Given the description of an element on the screen output the (x, y) to click on. 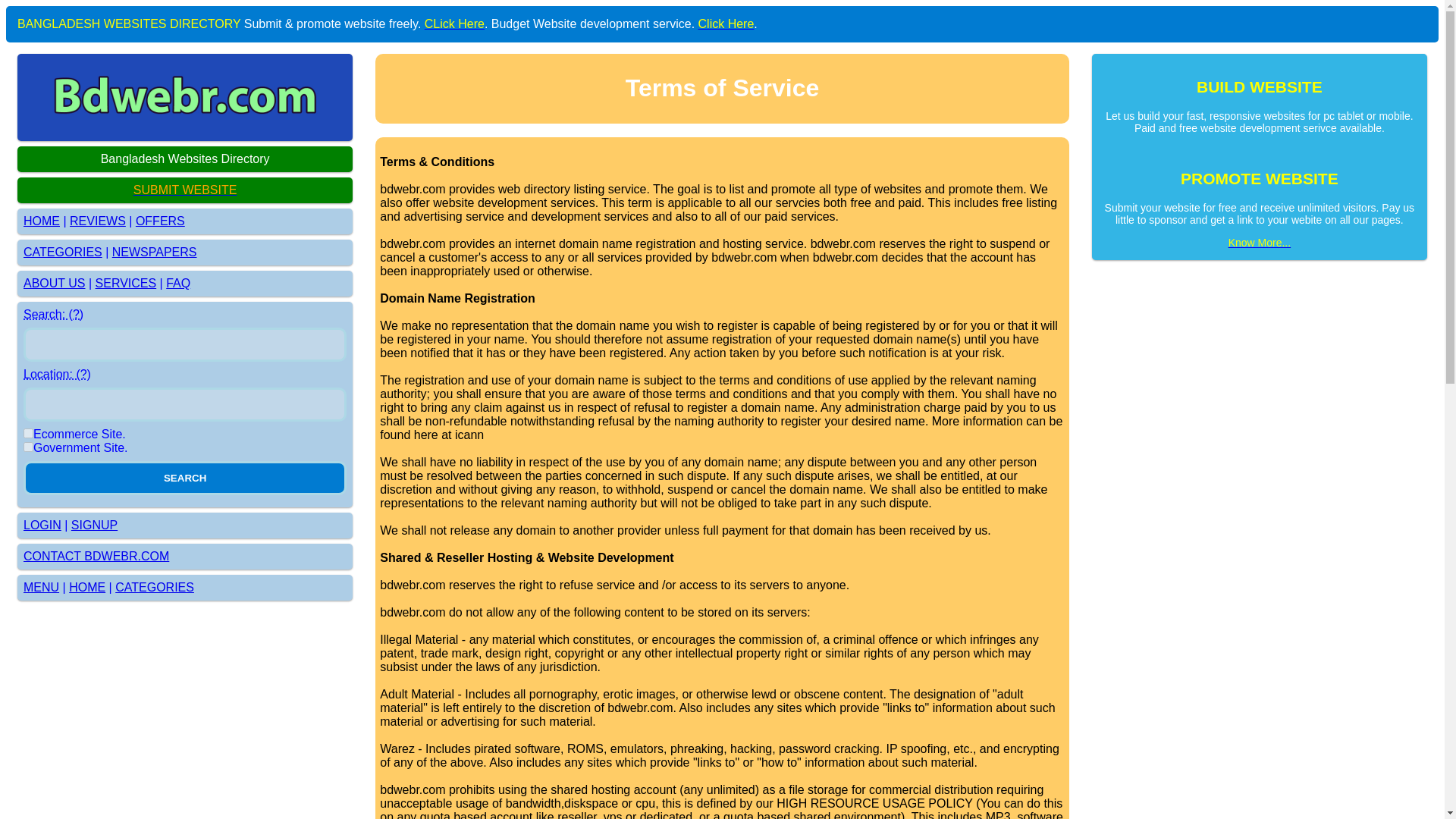
CATEGORIES (62, 251)
SERVICES (126, 282)
true (28, 447)
Know More... (1259, 242)
SEARCH (184, 478)
FAQ (177, 282)
MENU (41, 586)
CATEGORIES (154, 586)
HOME (86, 586)
CLick Here (454, 23)
LOGIN (42, 524)
REVIEWS (97, 220)
ABOUT US (54, 282)
SIGNUP (94, 524)
CONTACT BDWEBR.COM (95, 555)
